Given the description of an element on the screen output the (x, y) to click on. 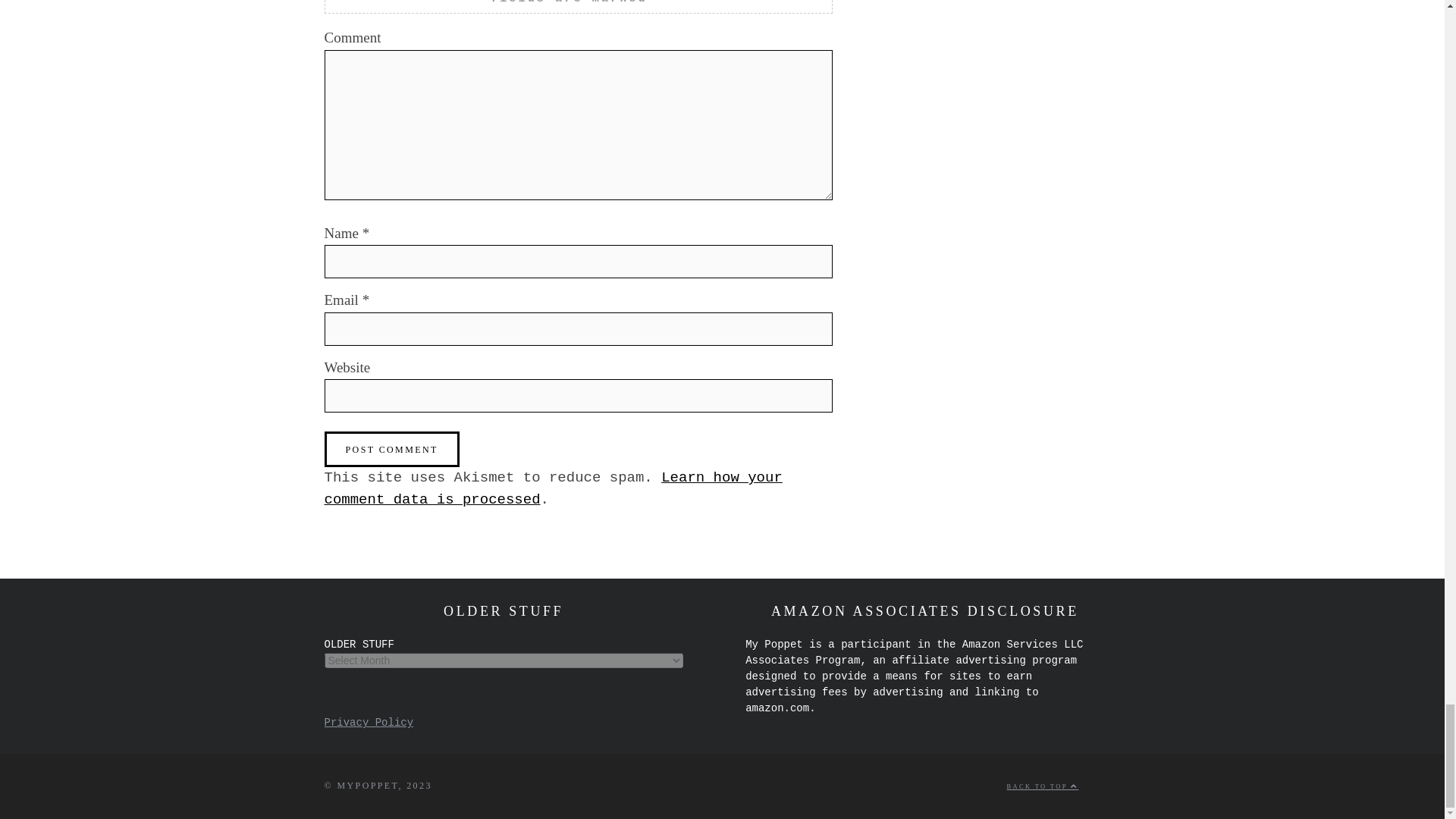
Post Comment (392, 448)
